Given the description of an element on the screen output the (x, y) to click on. 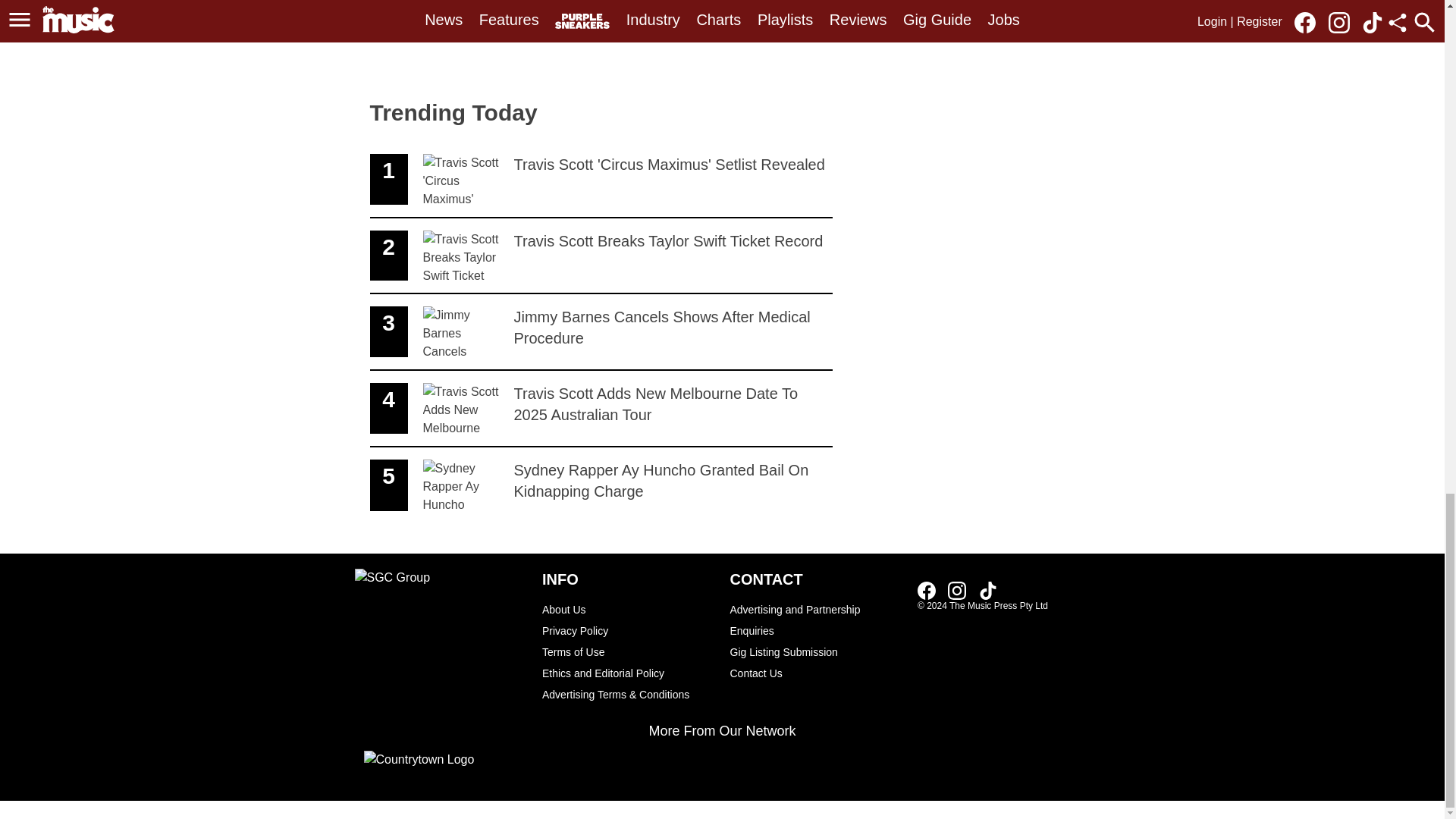
Gig Listing Submission (815, 651)
Link to our Instagram (956, 590)
Terms of Use (627, 651)
Link to our TikTok (987, 590)
Privacy Policy (627, 630)
Link to our Facebook (926, 590)
Advertising and Partnership Enquiries (600, 256)
About Us (815, 619)
Ethics and Editorial Policy (600, 179)
